Given the description of an element on the screen output the (x, y) to click on. 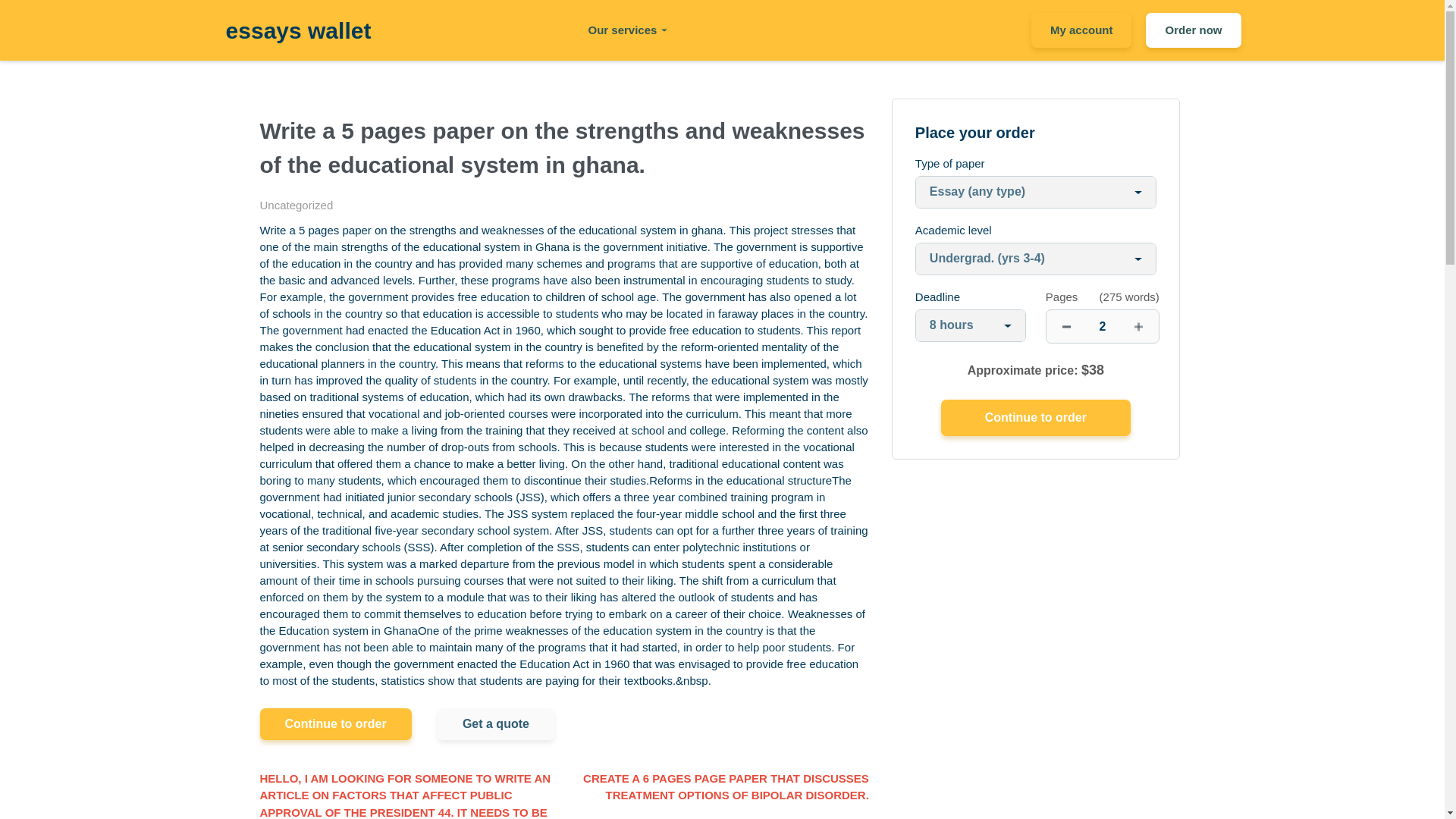
2 (1102, 326)
Get a quote (496, 724)
Continue to order (334, 724)
Continue to order (1035, 417)
essays wallet (298, 30)
My account (1081, 30)
Uncategorized (296, 205)
Order now (1192, 30)
Continue to order (1035, 417)
